Given the description of an element on the screen output the (x, y) to click on. 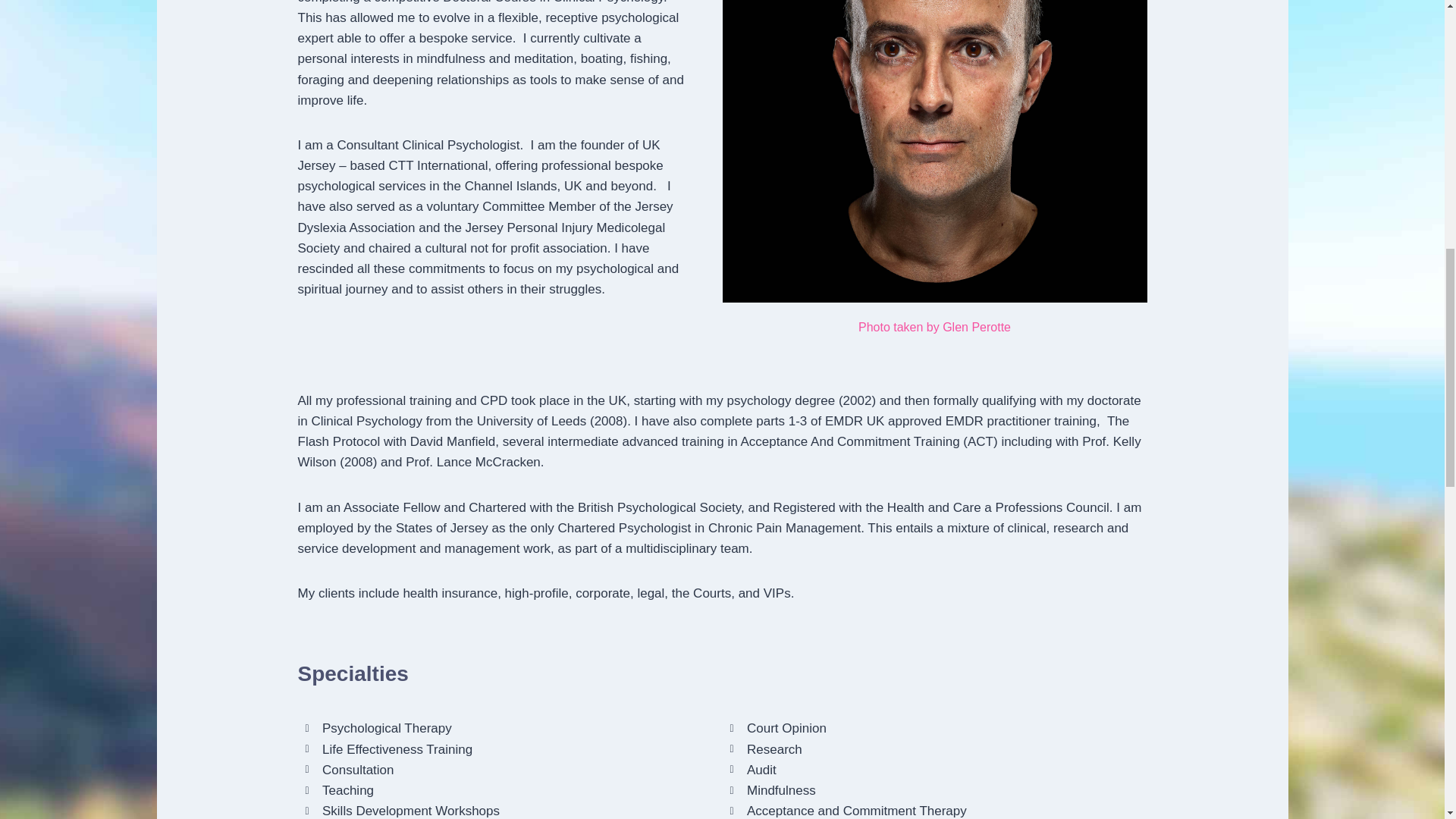
Photo taken by Glen Perotte (934, 327)
